Given the description of an element on the screen output the (x, y) to click on. 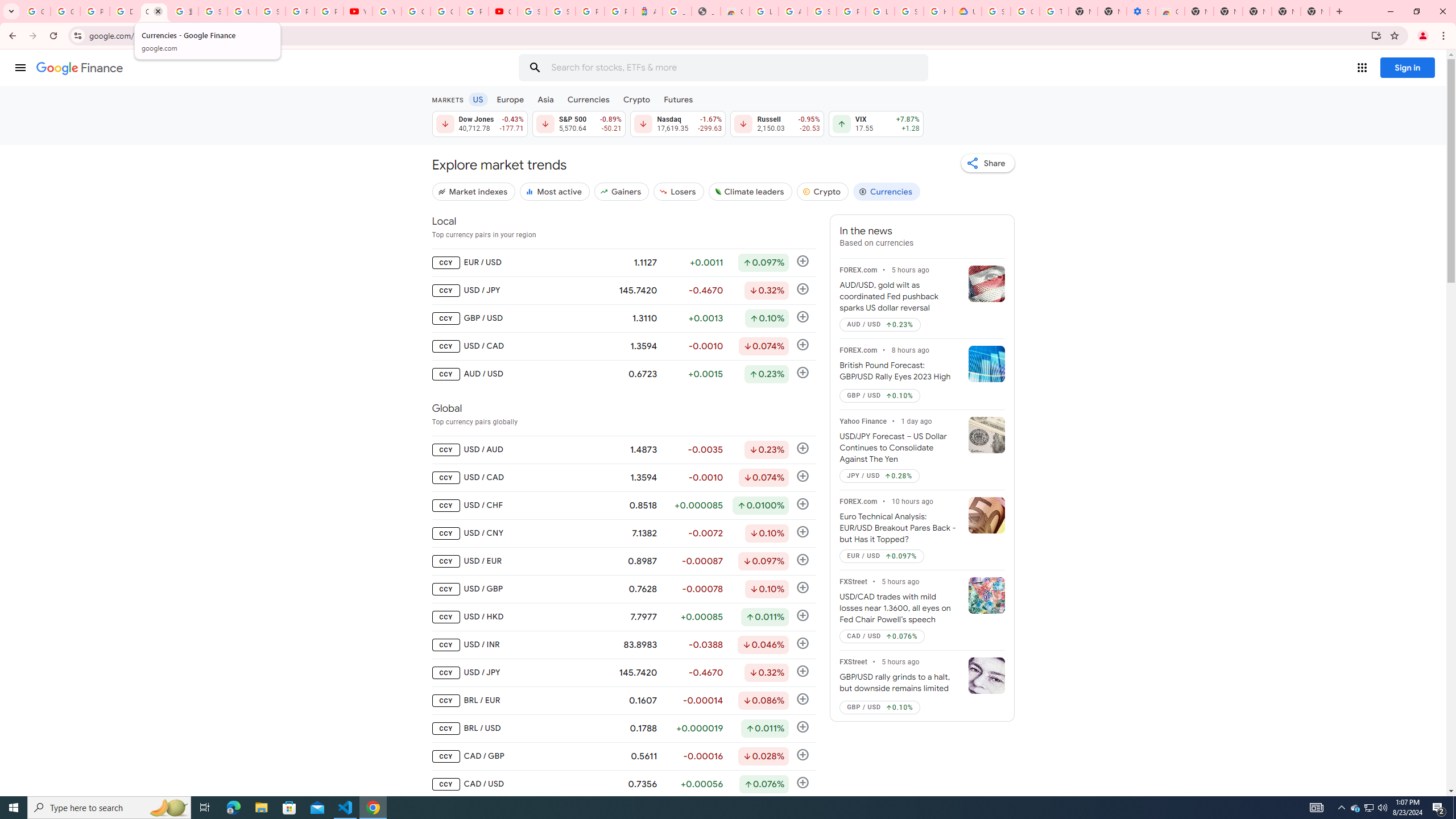
CCY USD / CNY 7.1382 -0.0072 Down by 0.097% Follow (623, 532)
Ad Settings (792, 11)
Asia (545, 99)
Share (987, 162)
Settings - Accessibility (1140, 11)
Google Account Help (1025, 11)
GBP / USD Up by 0.077% (880, 707)
US (477, 99)
CCY USD / CHF 0.8518 +0.000085 Up by 0.041% Follow (623, 505)
YouTube (357, 11)
Currencies (886, 191)
